Given the description of an element on the screen output the (x, y) to click on. 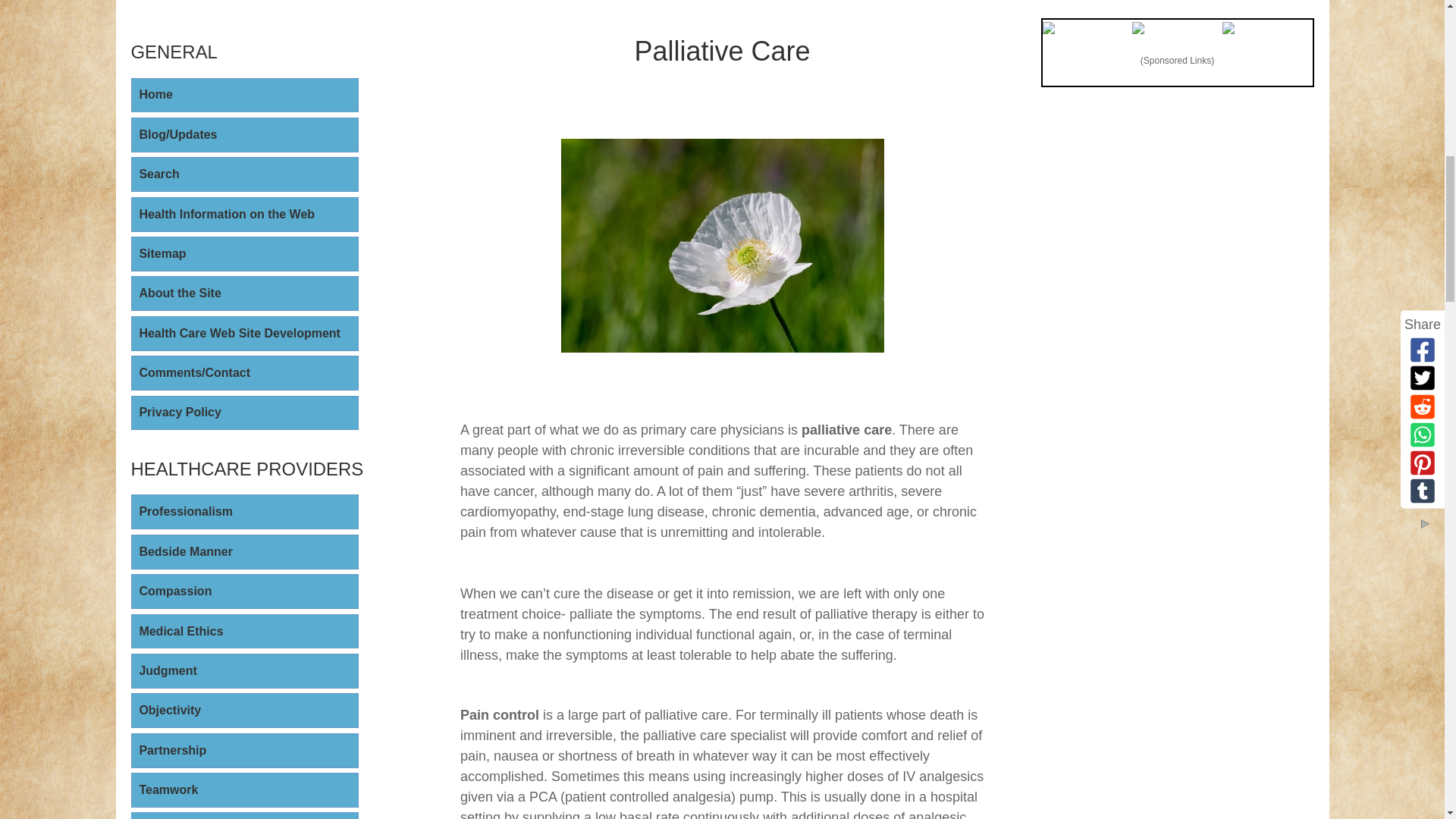
Compassion (244, 591)
Health Care Web Site Development (244, 333)
Medical Office Staff (244, 815)
Partnership (244, 750)
Sitemap (244, 253)
Opium Poppy (721, 245)
Objectivity (244, 710)
About the Site (244, 293)
Bedside Manner (244, 551)
Teamwork (244, 790)
